Given the description of an element on the screen output the (x, y) to click on. 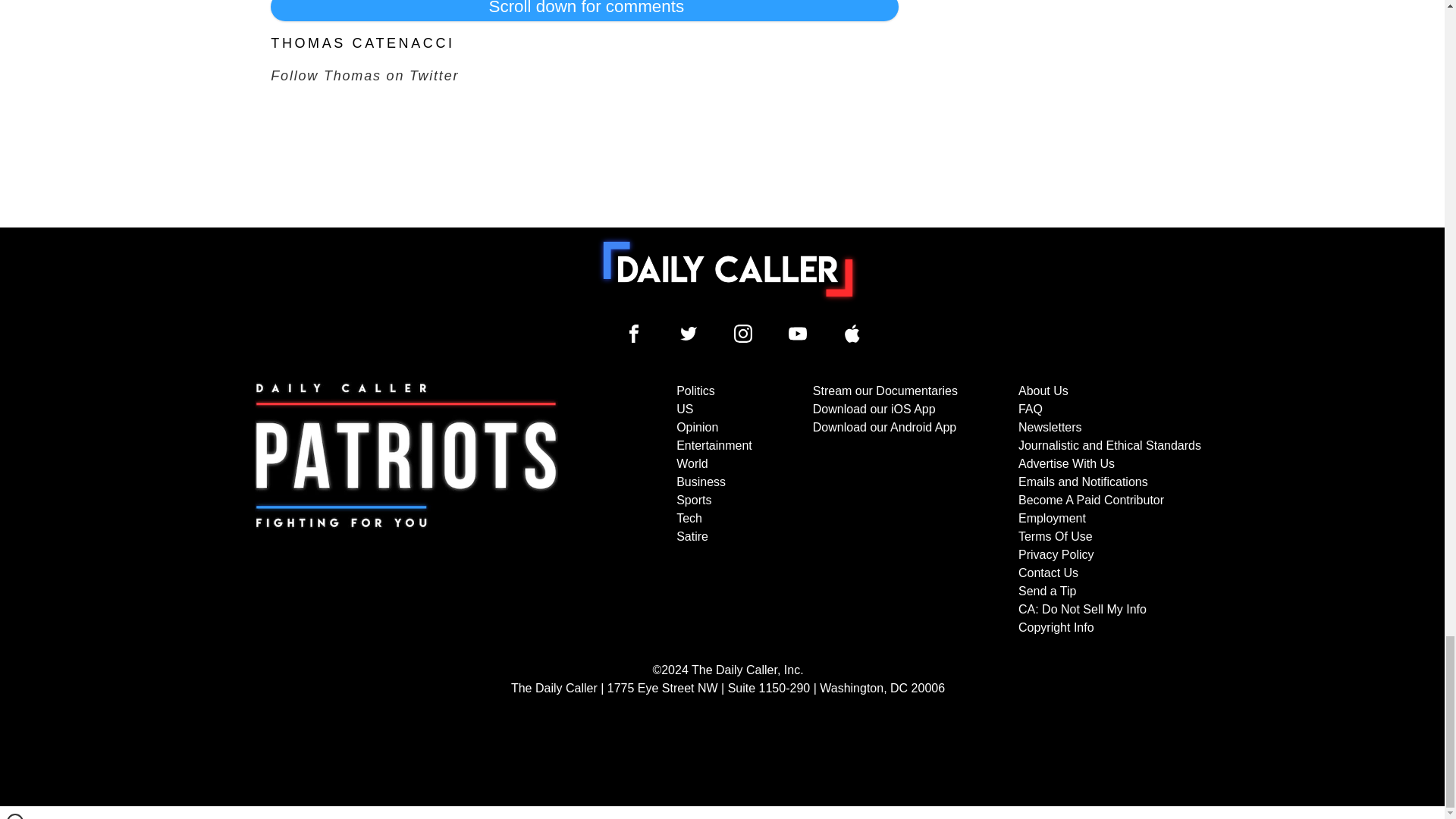
Subscribe to The Daily Caller (405, 509)
Daily Caller YouTube (797, 333)
Daily Caller YouTube (852, 333)
To home page (727, 268)
Daily Caller Instagram (742, 333)
Scroll down for comments (584, 10)
Daily Caller Facebook (633, 333)
Daily Caller Twitter (688, 333)
